Given the description of an element on the screen output the (x, y) to click on. 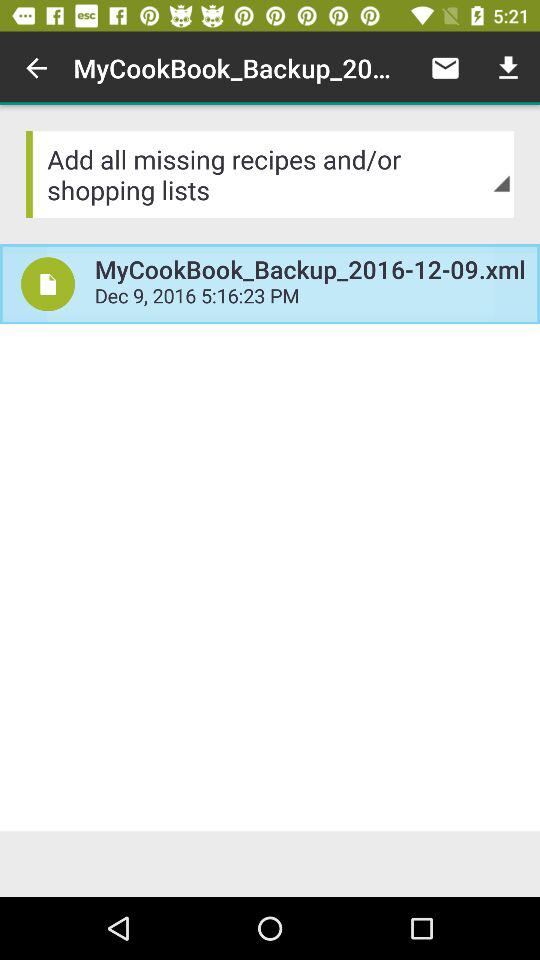
select the icon above add all missing item (508, 67)
